Given the description of an element on the screen output the (x, y) to click on. 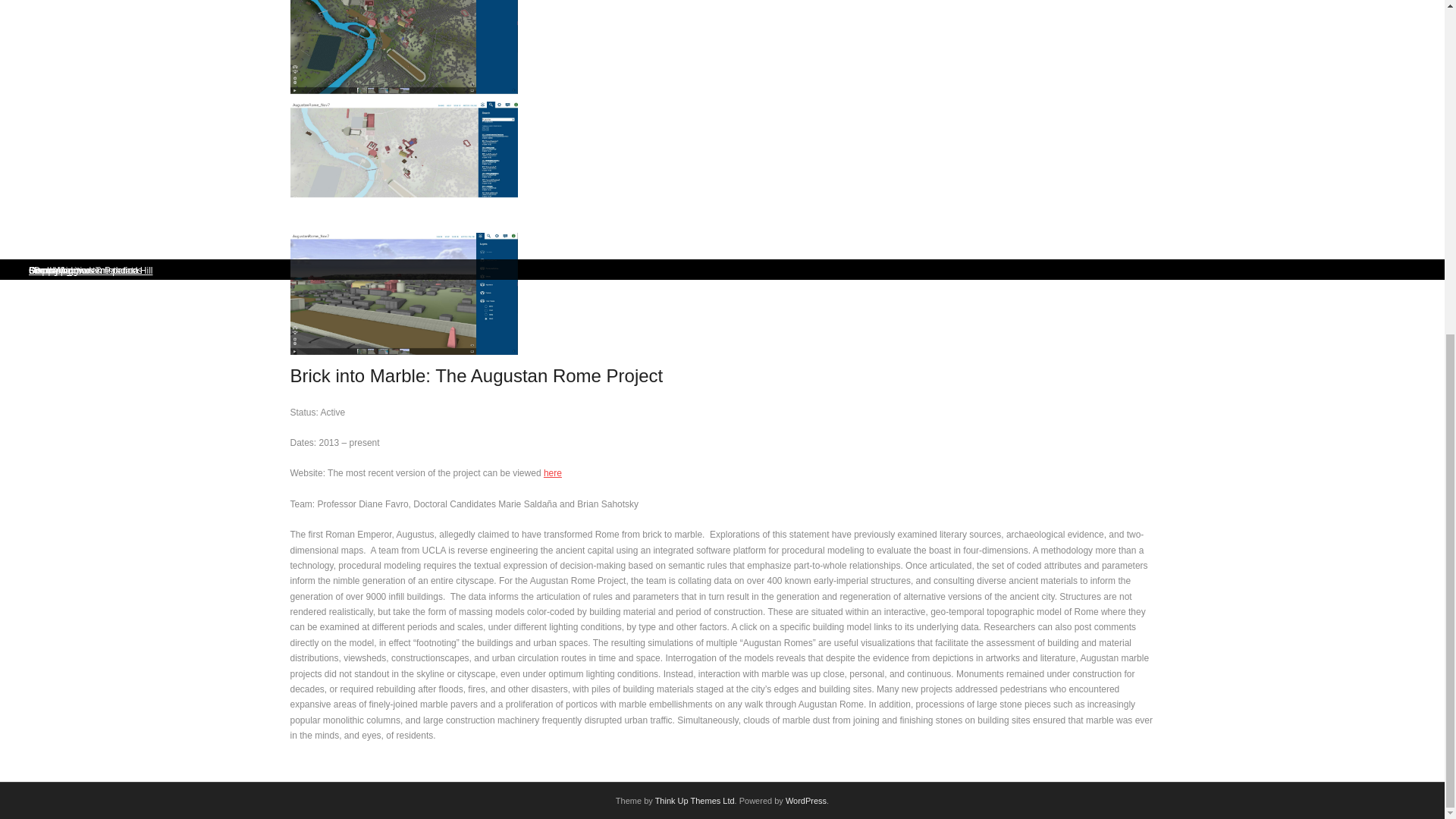
Flood level (43, 270)
Displaying model metadata (76, 270)
3D mapping (46, 270)
Comparing two time periods (78, 270)
